Given the description of an element on the screen output the (x, y) to click on. 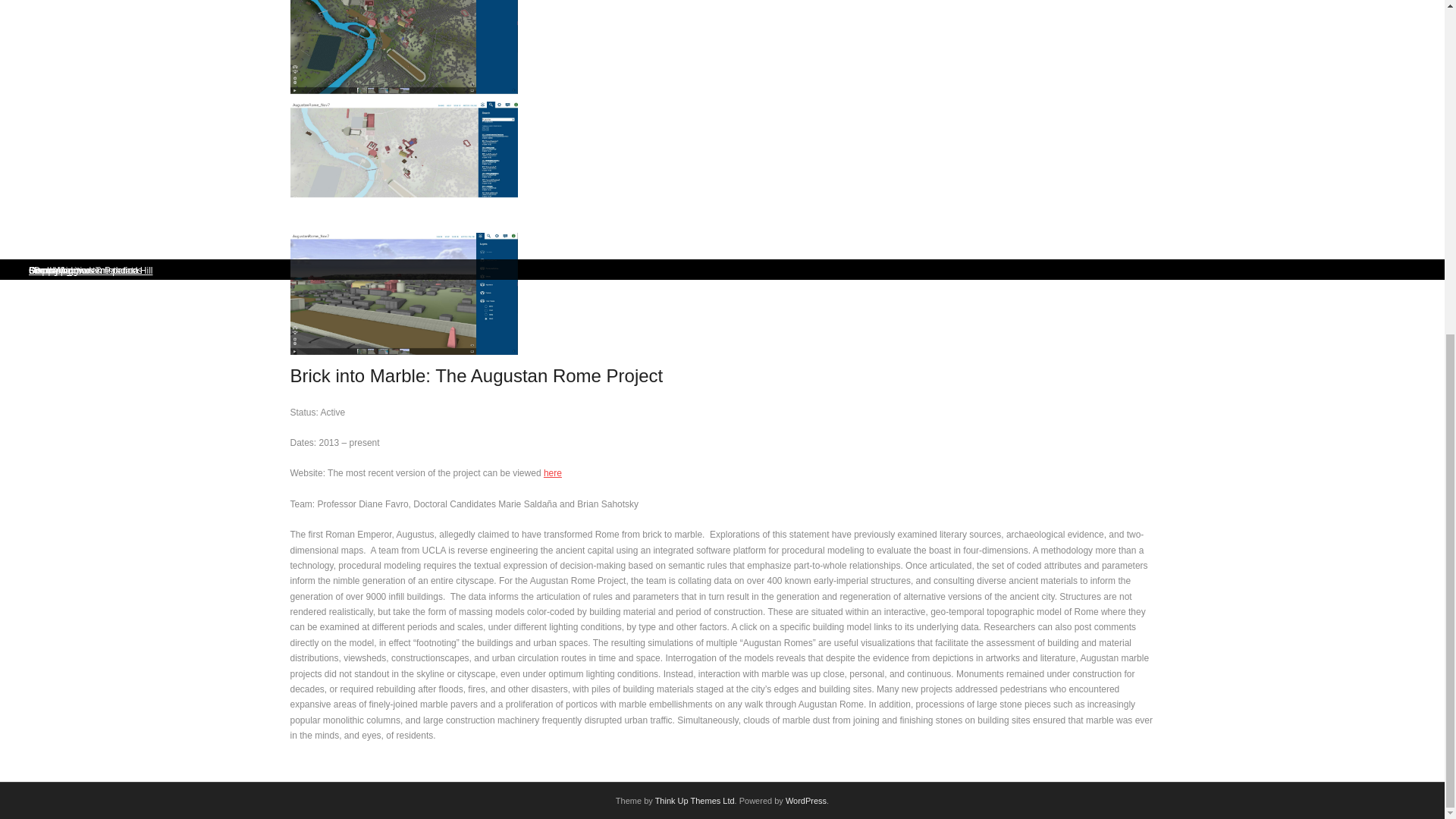
Flood level (43, 270)
Displaying model metadata (76, 270)
3D mapping (46, 270)
Comparing two time periods (78, 270)
